Given the description of an element on the screen output the (x, y) to click on. 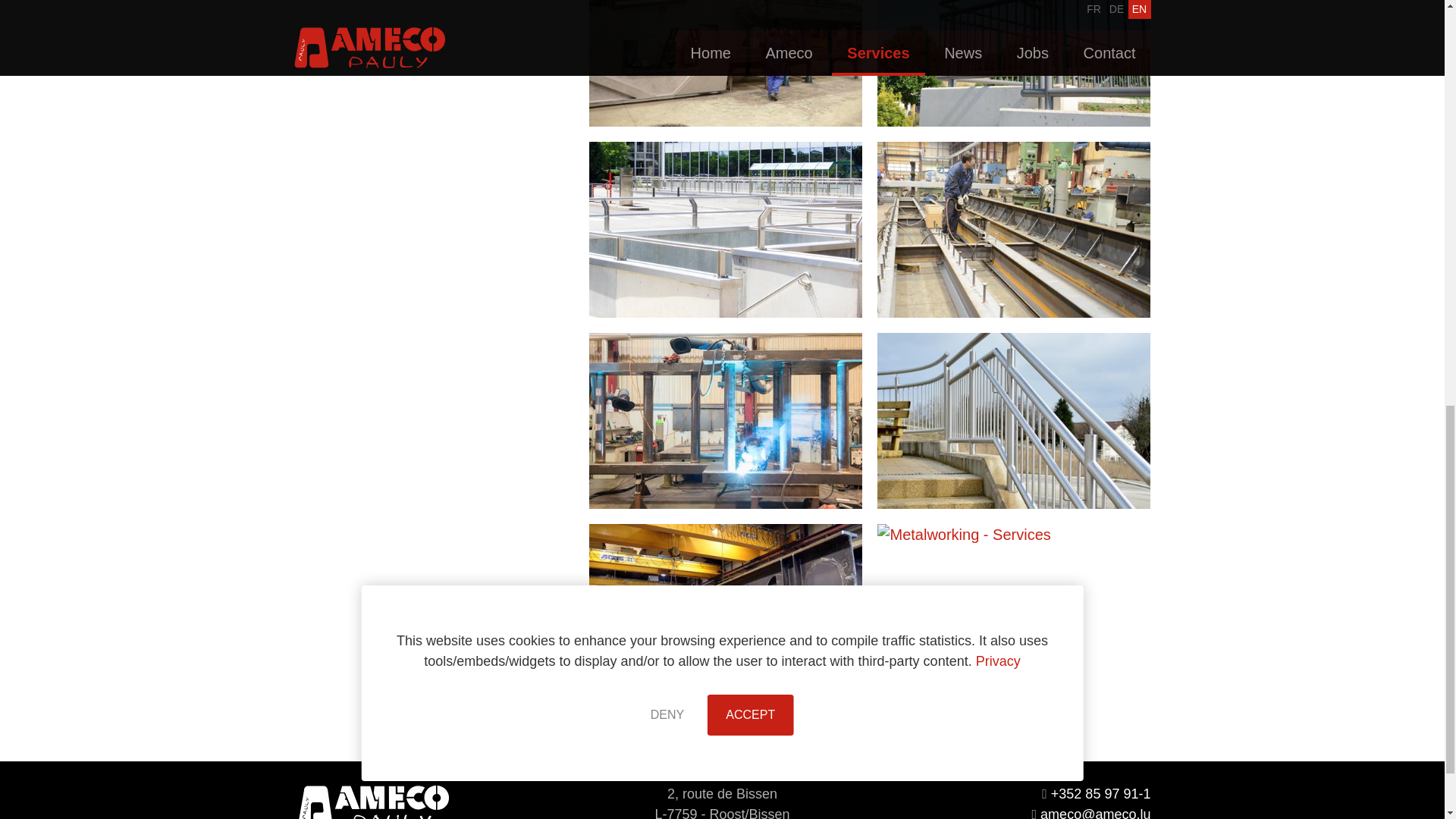
Metalworking - Services (1013, 612)
Metalworking - Services (725, 420)
Metalworking - Services (1013, 420)
Metalworking - Services (1013, 63)
Metalworking - Services (725, 63)
Metalworking - Services (725, 612)
Metalworking - Services (725, 229)
Metalworking - Services (1013, 229)
